Given the description of an element on the screen output the (x, y) to click on. 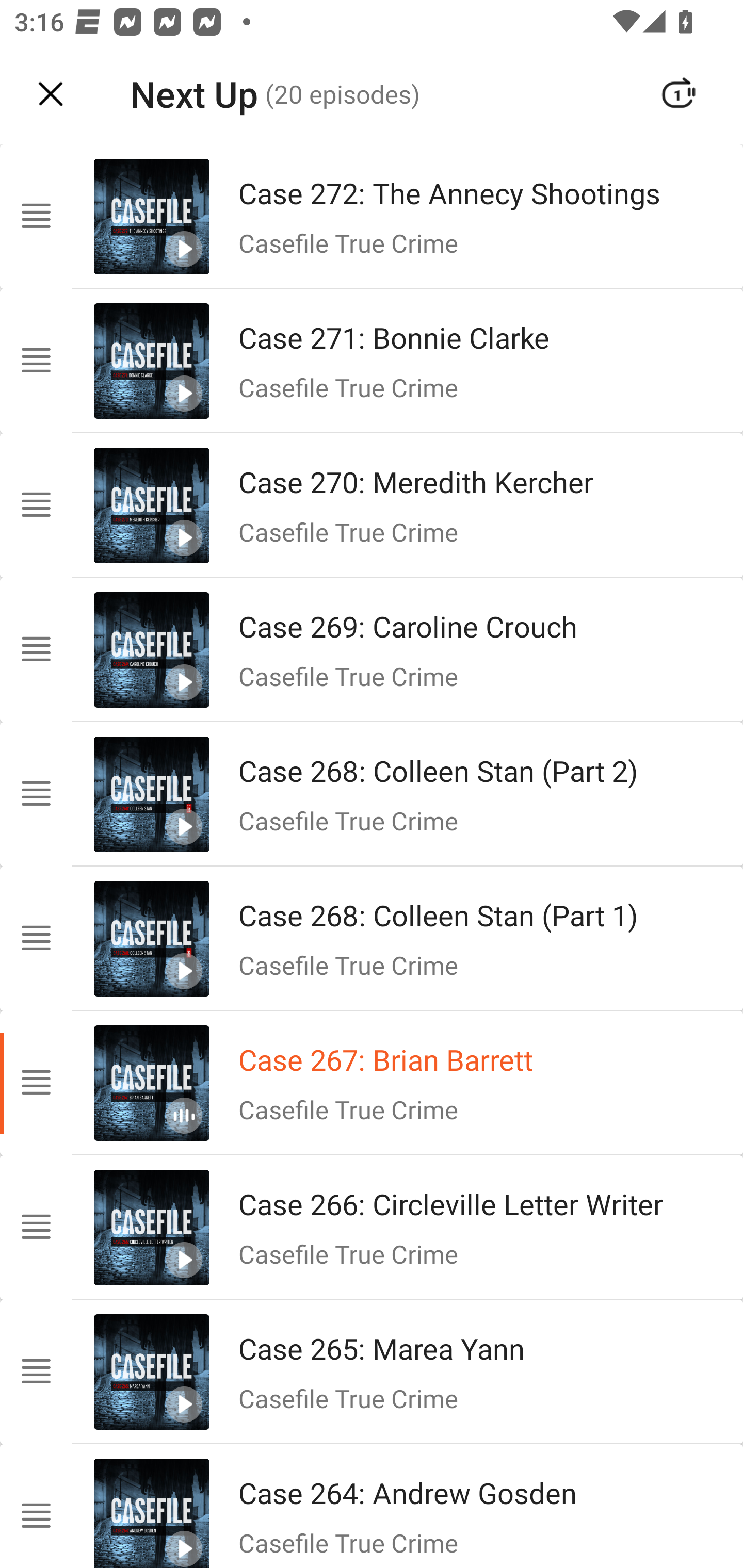
Navigate up (50, 93)
